Given the description of an element on the screen output the (x, y) to click on. 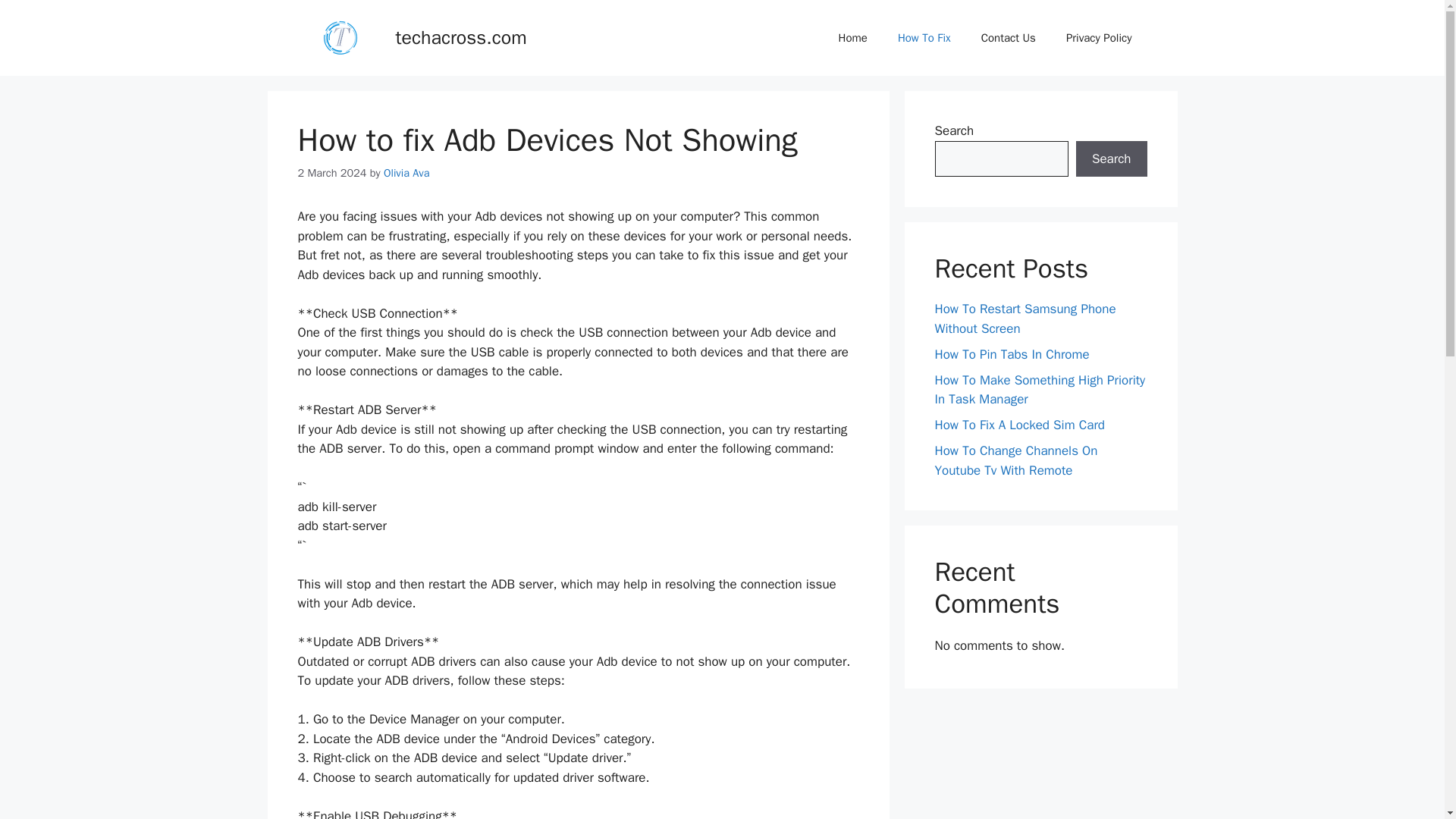
How To Make Something High Priority In Task Manager (1039, 389)
Contact Us (1008, 37)
How To Pin Tabs In Chrome (1011, 353)
Home (853, 37)
How To Fix A Locked Sim Card (1018, 424)
Privacy Policy (1099, 37)
View all posts by Olivia Ava (406, 172)
How To Restart Samsung Phone Without Screen (1024, 318)
How To Fix (924, 37)
techacross.com (461, 37)
Search (1111, 158)
Olivia Ava (406, 172)
How To Change Channels On Youtube Tv With Remote (1015, 460)
